Given the description of an element on the screen output the (x, y) to click on. 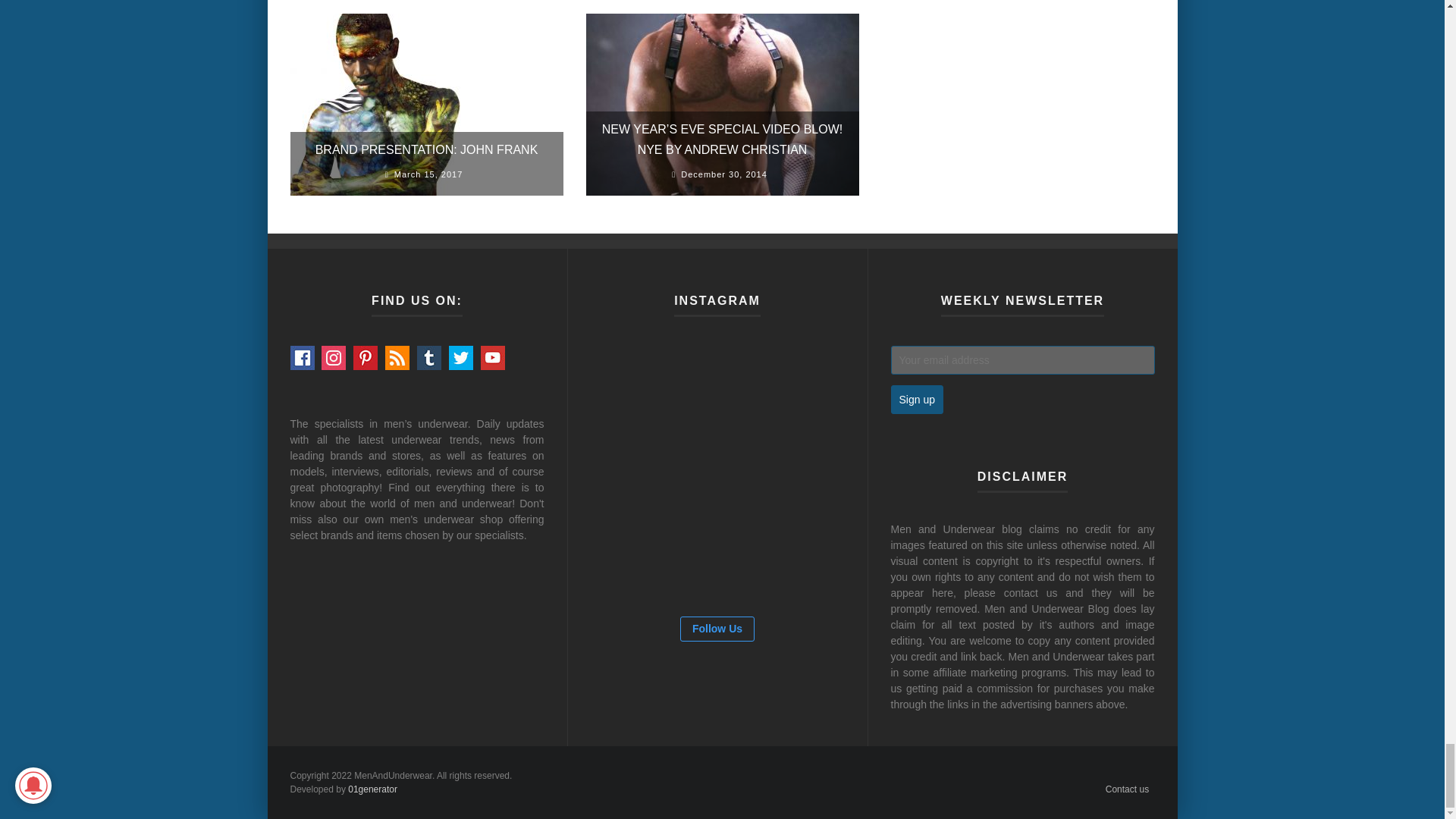
Sign up (915, 399)
